Given the description of an element on the screen output the (x, y) to click on. 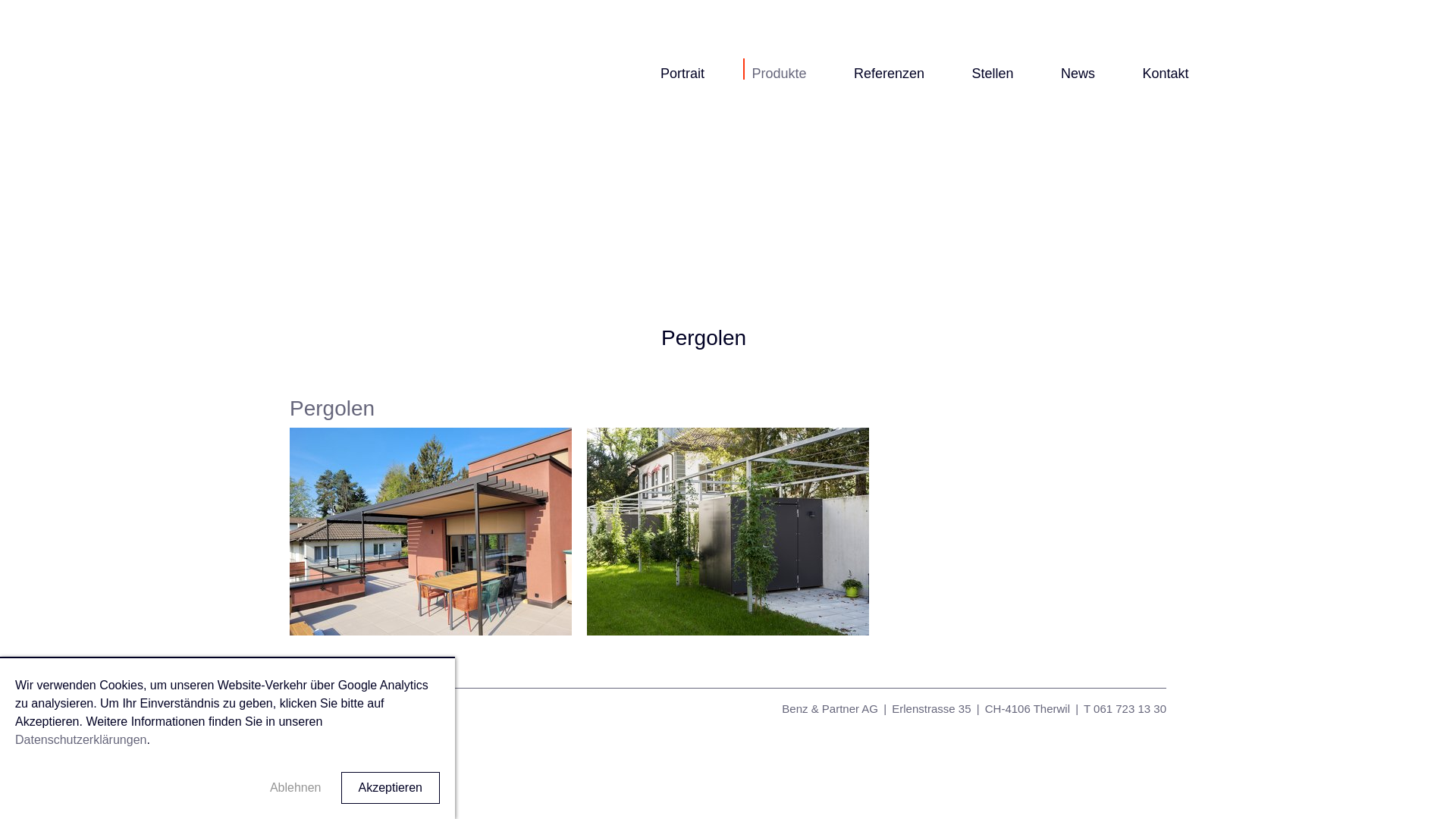
061 723 13 30 Element type: text (1129, 708)
Produkte Element type: text (778, 73)
Kontakt Element type: text (1164, 73)
Ablehnen Element type: text (295, 787)
Referenzen Element type: text (888, 73)
Akzeptieren Element type: text (390, 787)
Datenschutz Element type: text (391, 708)
Impressum Element type: text (318, 708)
Stellen Element type: text (992, 73)
News Element type: text (1077, 73)
Portrait Element type: text (682, 73)
